Given the description of an element on the screen output the (x, y) to click on. 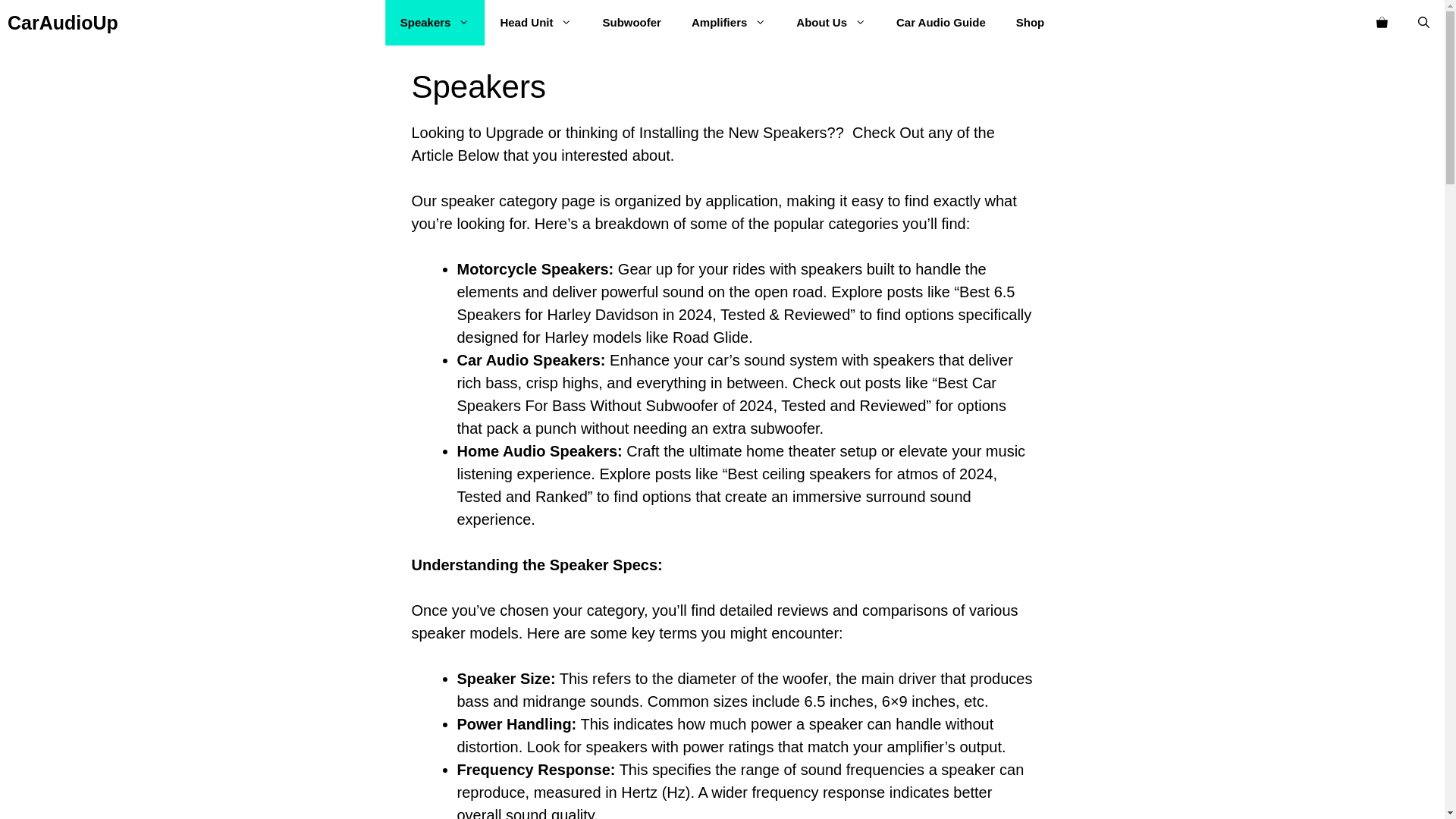
View your shopping cart (1382, 22)
Speakers (434, 22)
Car Audio Guide (940, 22)
Subwoofer (631, 22)
About Us (830, 22)
Head Unit (535, 22)
Shop (1030, 22)
CarAudioUp (62, 22)
Amplifiers (728, 22)
